Given the description of an element on the screen output the (x, y) to click on. 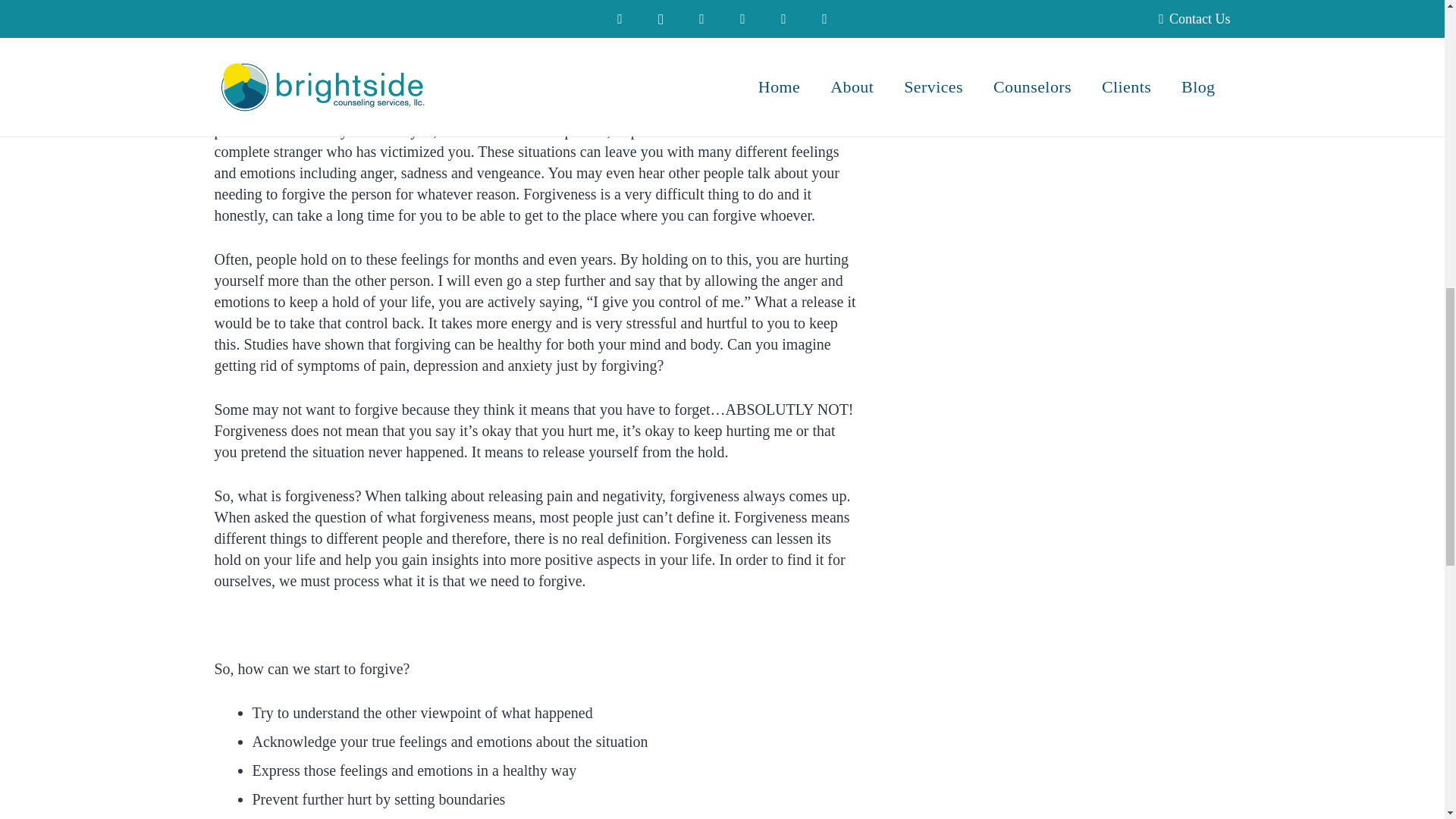
Back to top (1413, 26)
